Given the description of an element on the screen output the (x, y) to click on. 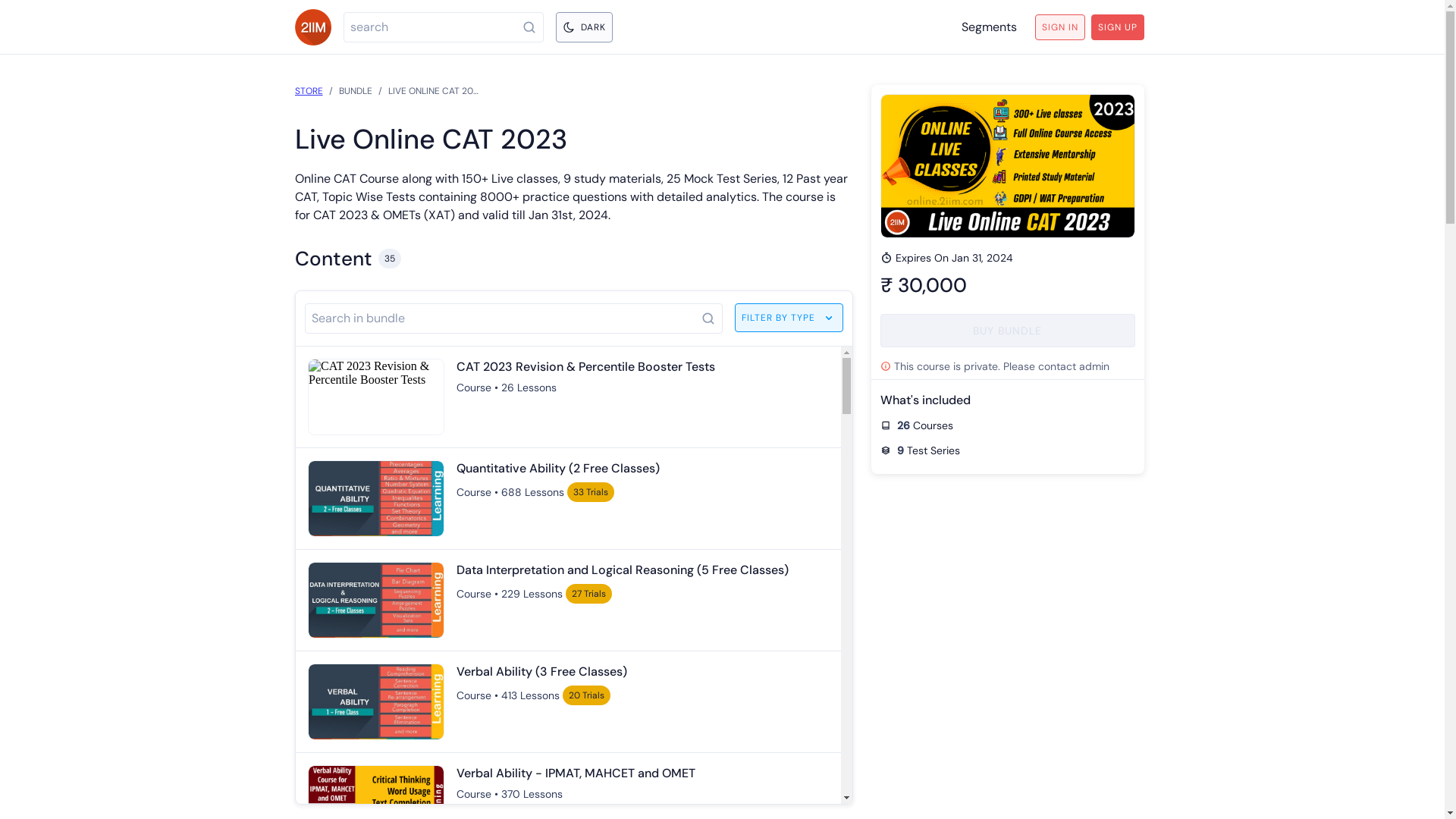
FILTER BY TYPE Element type: text (788, 317)
SIGN IN Element type: text (1059, 27)
STORE Element type: text (308, 90)
Segments Element type: text (988, 27)
DARK Element type: text (583, 27)
SIGN UP Element type: text (1116, 27)
BUY BUNDLE Element type: text (1006, 330)
